Given the description of an element on the screen output the (x, y) to click on. 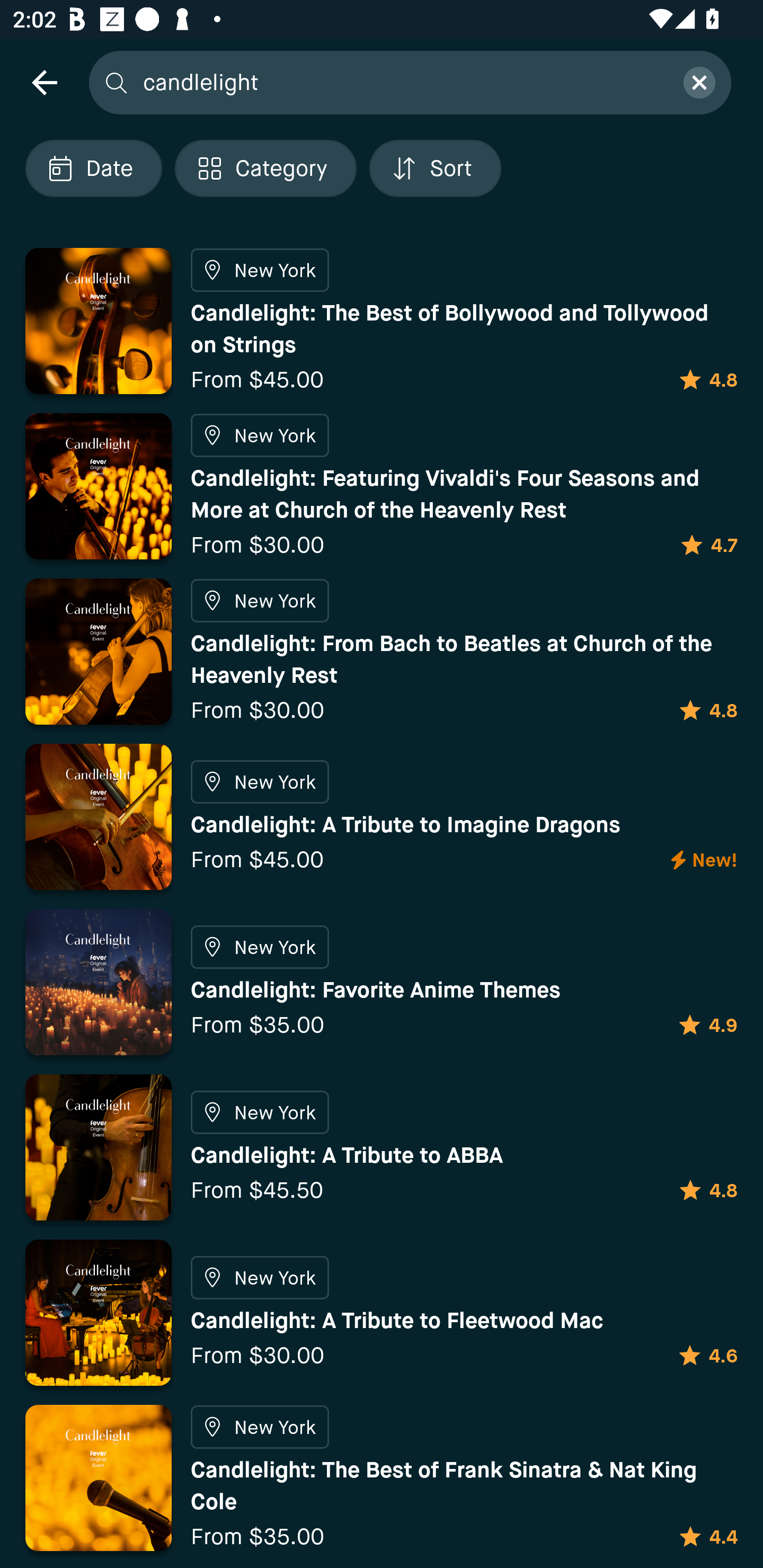
navigation icon (44, 81)
candlelight (402, 81)
Localized description Date (93, 168)
Localized description Category (265, 168)
Localized description Sort (435, 168)
